Given the description of an element on the screen output the (x, y) to click on. 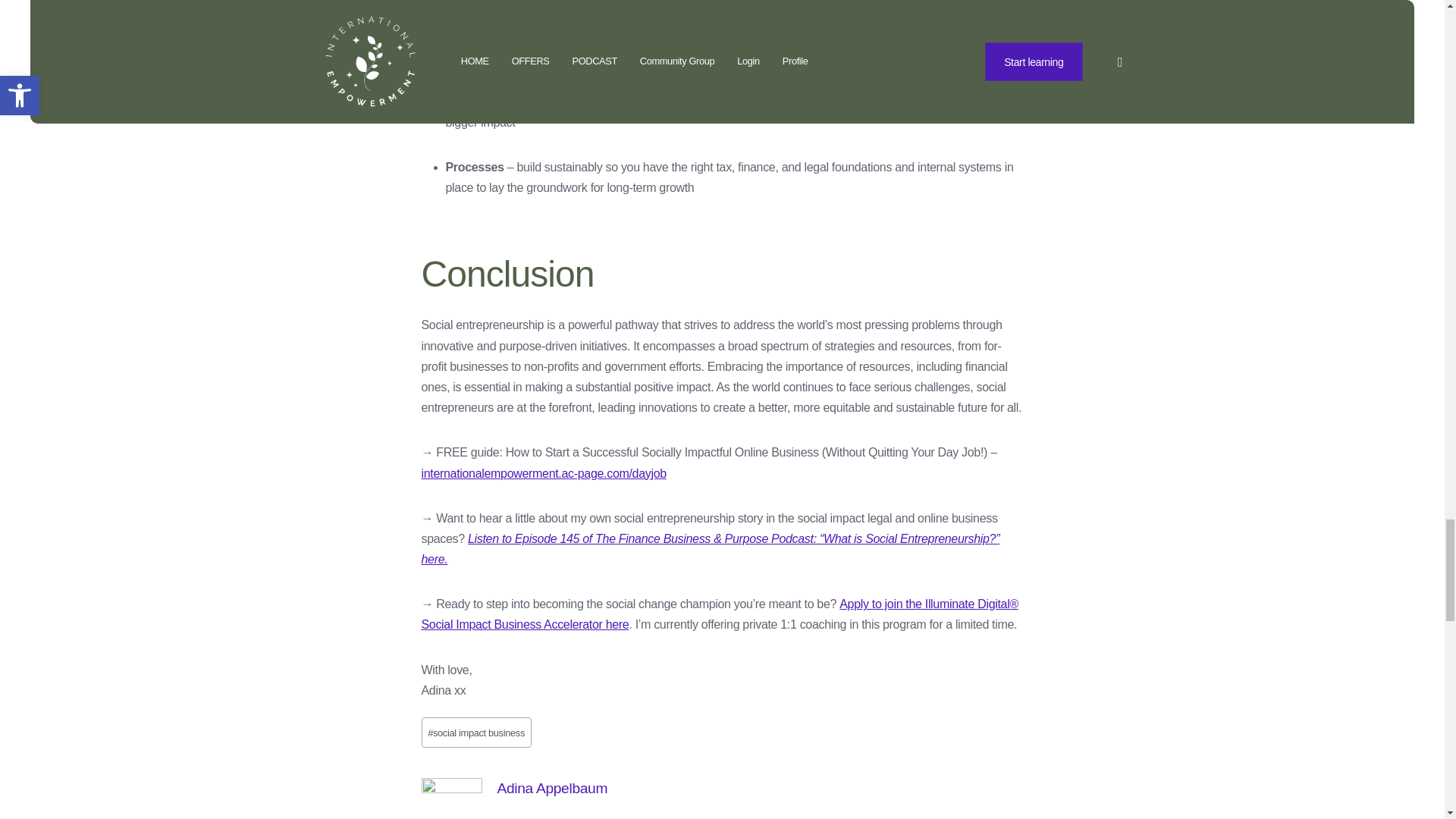
social impact business (476, 731)
Posts by Adina Appelbaum (552, 788)
